Given the description of an element on the screen output the (x, y) to click on. 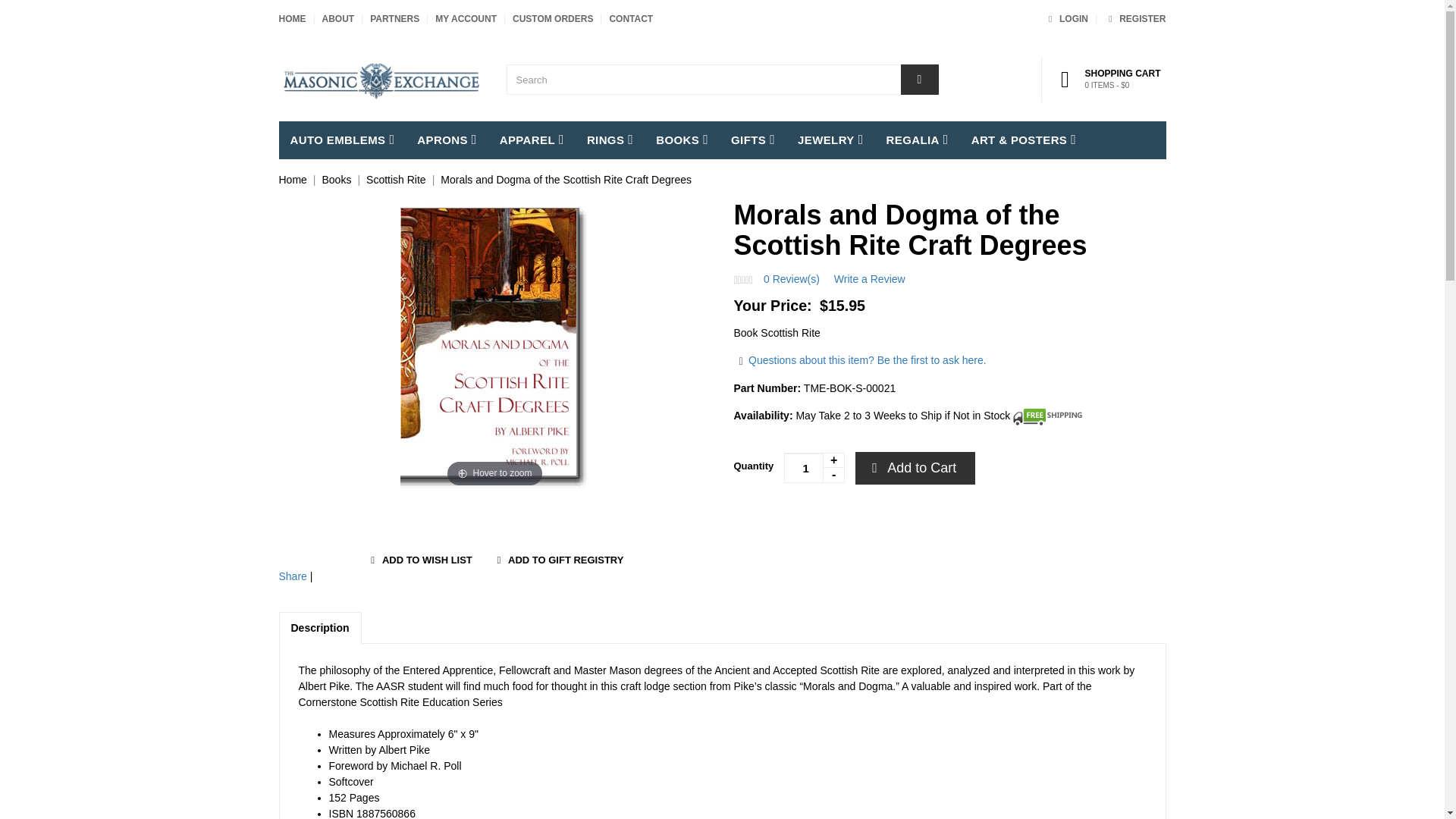
PARTNERS (394, 18)
APRONS (446, 139)
ABOUT (337, 18)
1 (814, 467)
MY ACCOUNT (465, 18)
CONTACT (1134, 18)
HOME (630, 18)
CUSTOM ORDERS (292, 18)
AUTO EMBLEMS (552, 18)
